Given the description of an element on the screen output the (x, y) to click on. 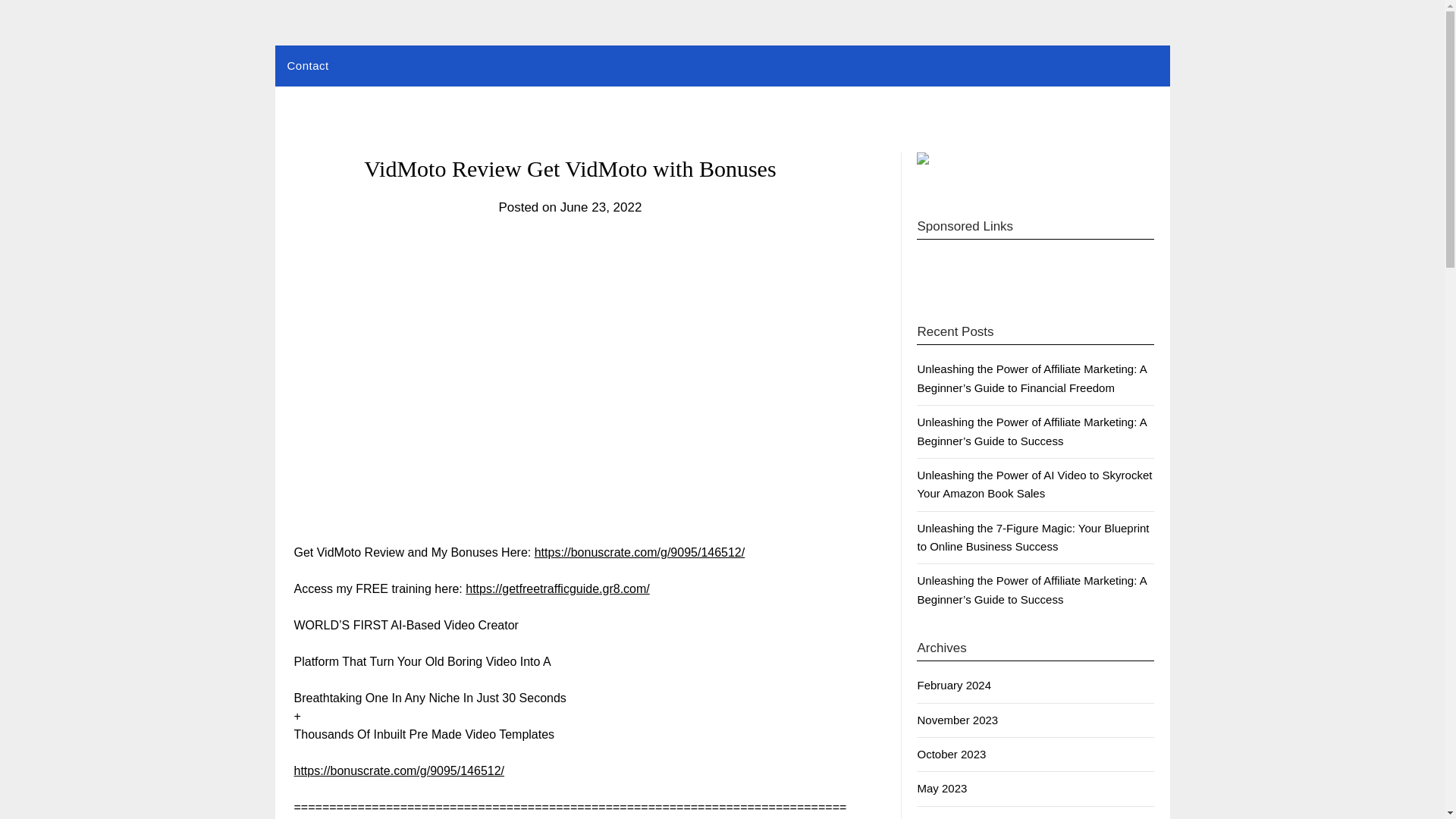
November 2023 (957, 719)
October 2023 (951, 753)
Tsuyoshi Suzuki Marketing (443, 62)
February 2024 (954, 684)
May 2023 (941, 788)
Contact (307, 65)
April 2023 (942, 817)
